Given the description of an element on the screen output the (x, y) to click on. 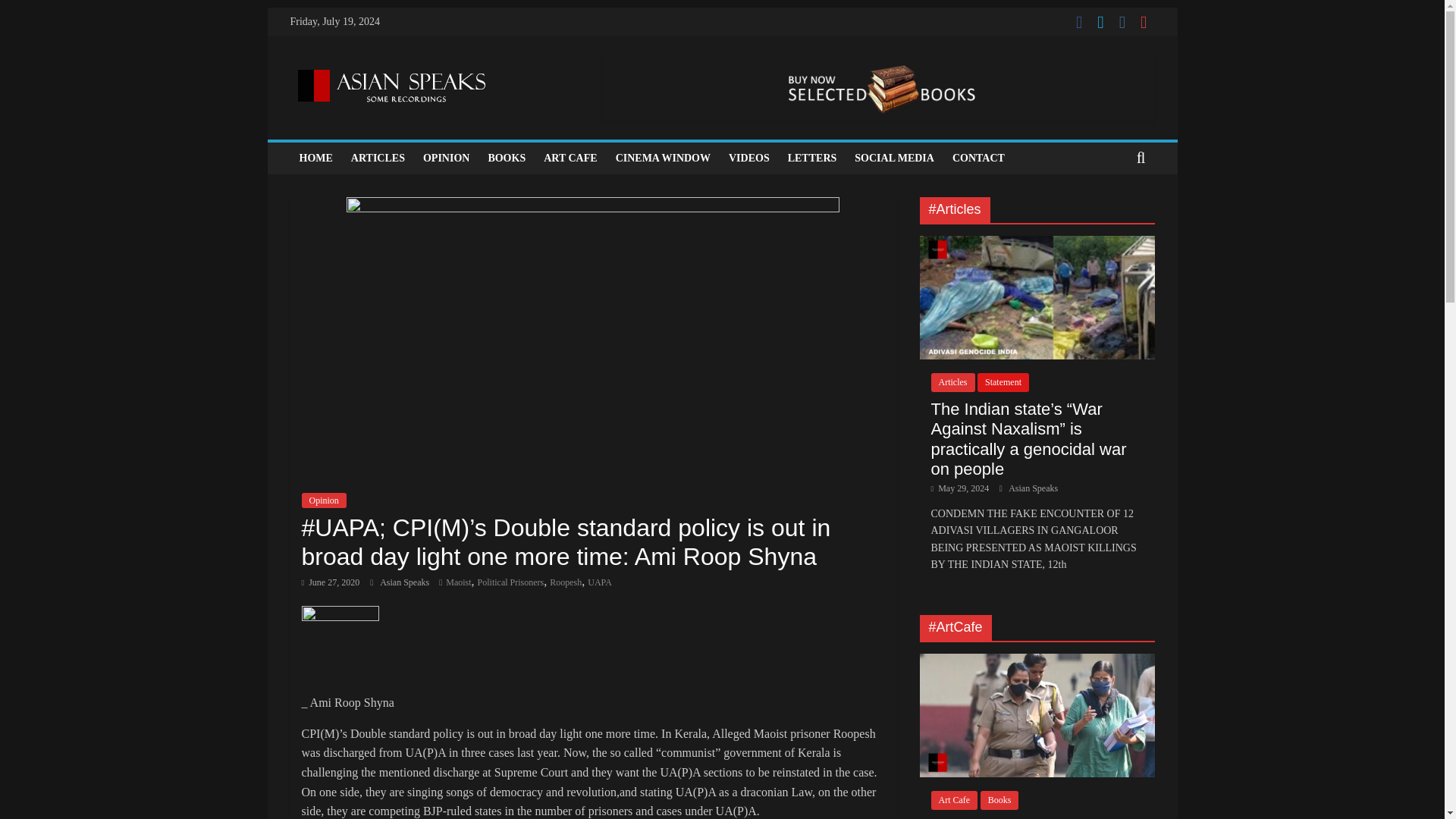
June 27, 2020 (330, 582)
Roopesh (565, 582)
HOME (314, 158)
UAPA (599, 582)
CONTACT (978, 158)
Political Prisoners (510, 582)
BOOKS (506, 158)
7:57 am (330, 582)
ARTICLES (377, 158)
Maoist (457, 582)
VIDEOS (748, 158)
Opinion (323, 500)
SOCIAL MEDIA (894, 158)
CINEMA WINDOW (663, 158)
